Given the description of an element on the screen output the (x, y) to click on. 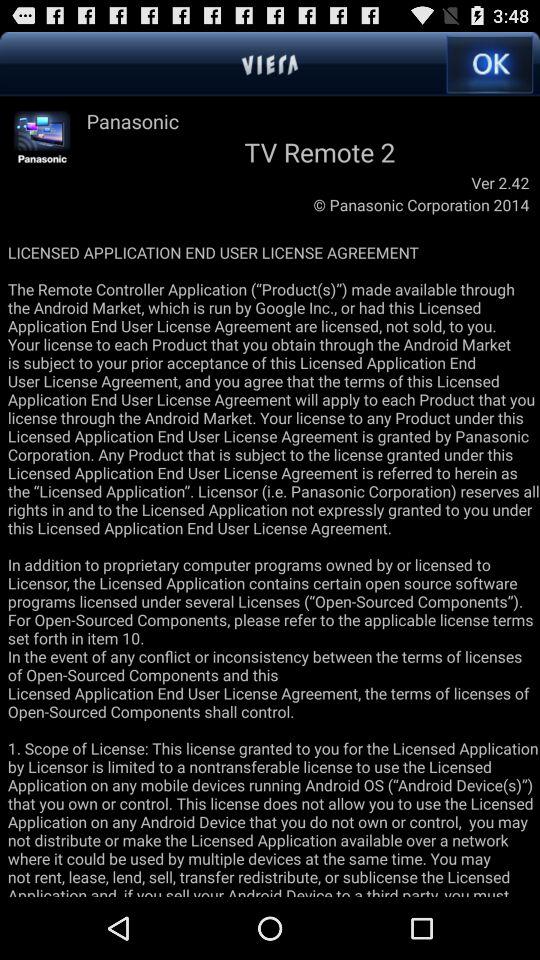
accept to move on (489, 64)
